Given the description of an element on the screen output the (x, y) to click on. 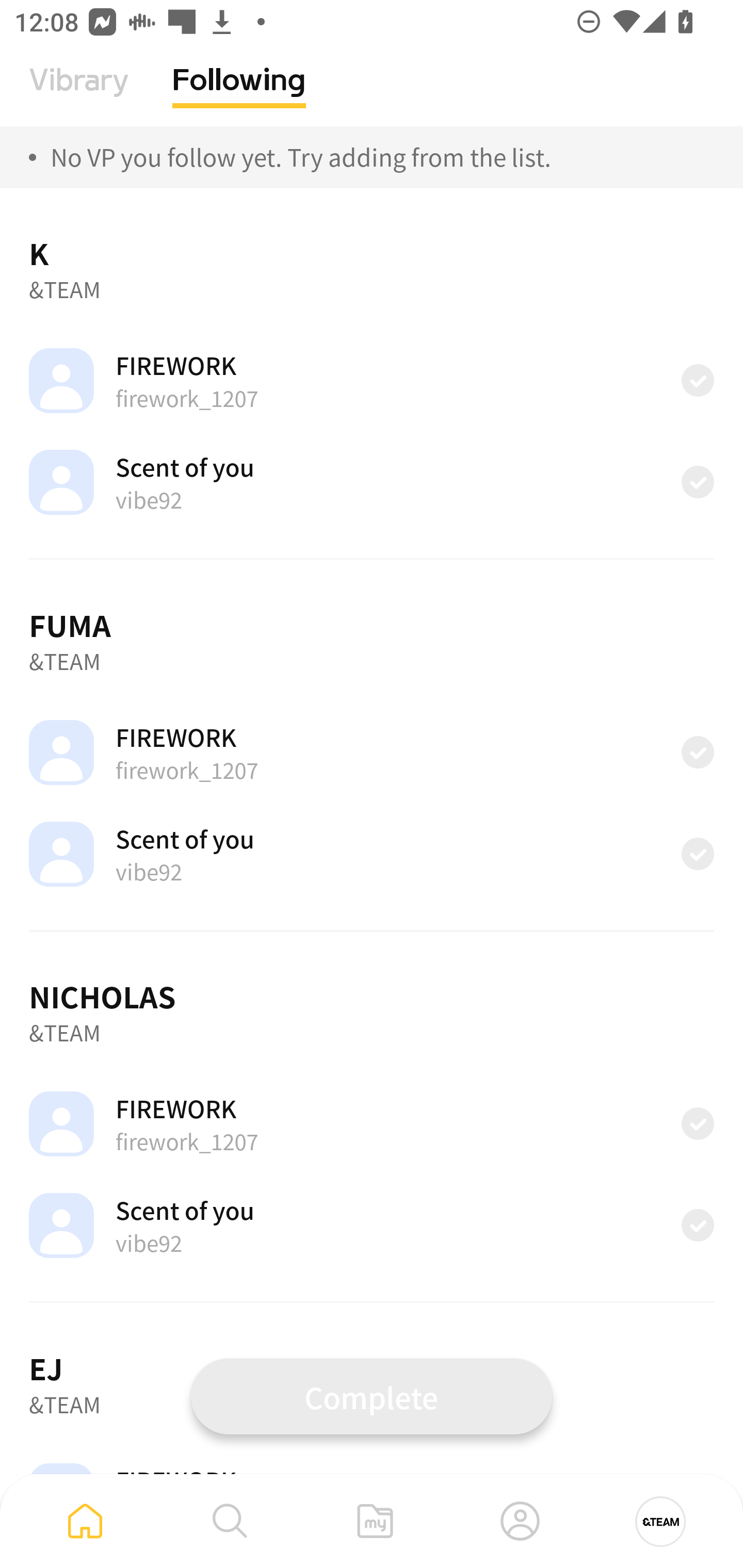
Vibrary (78, 95)
Following (239, 95)
FIREWORK firework_1207 (371, 380)
Scent of you vibe92 (371, 482)
FIREWORK firework_1207 (371, 752)
Scent of you vibe92 (371, 853)
FIREWORK firework_1207 (371, 1124)
Scent of you vibe92 (371, 1225)
Complete (371, 1395)
